Given the description of an element on the screen output the (x, y) to click on. 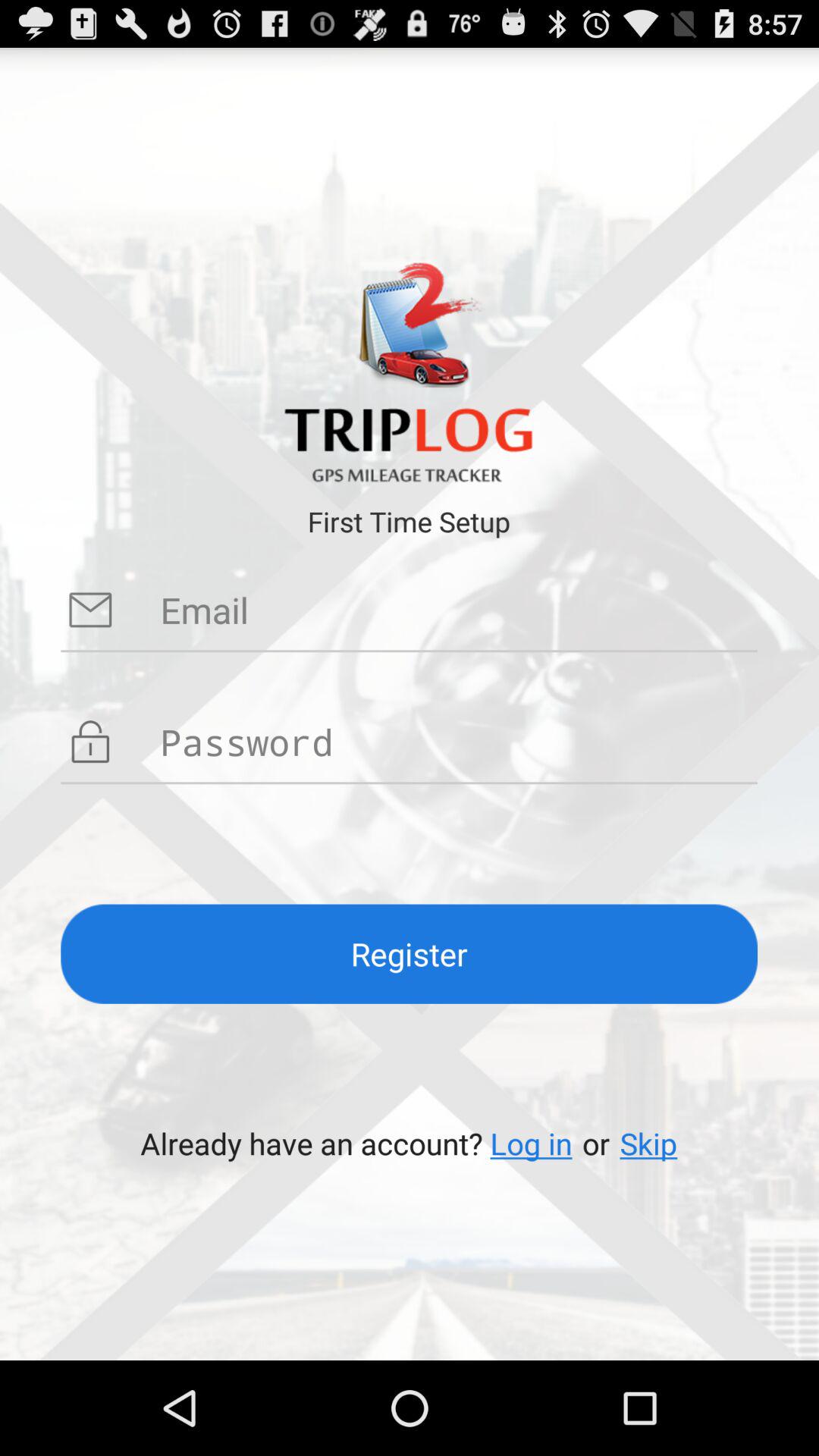
choose the item next to the already have an item (531, 1143)
